Given the description of an element on the screen output the (x, y) to click on. 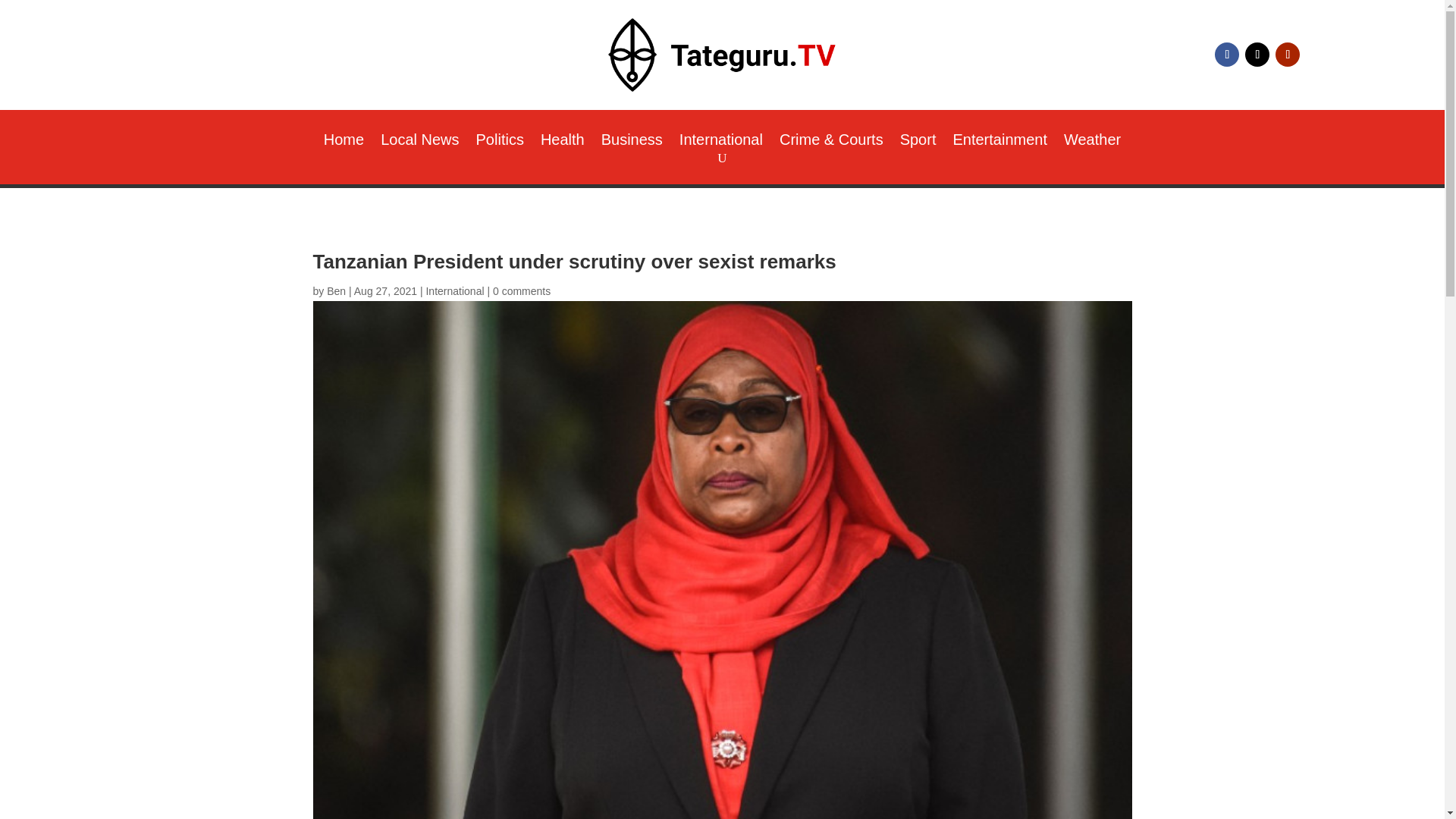
Follow on Facebook (1226, 54)
Home (343, 142)
Sport (917, 142)
Local News (419, 142)
Posts by Ben (336, 291)
Follow on Youtube (1287, 54)
International (720, 142)
Entertainment (999, 142)
Weather (1092, 142)
Business (631, 142)
Follow on X (1256, 54)
Health (562, 142)
Politics (500, 142)
